Given the description of an element on the screen output the (x, y) to click on. 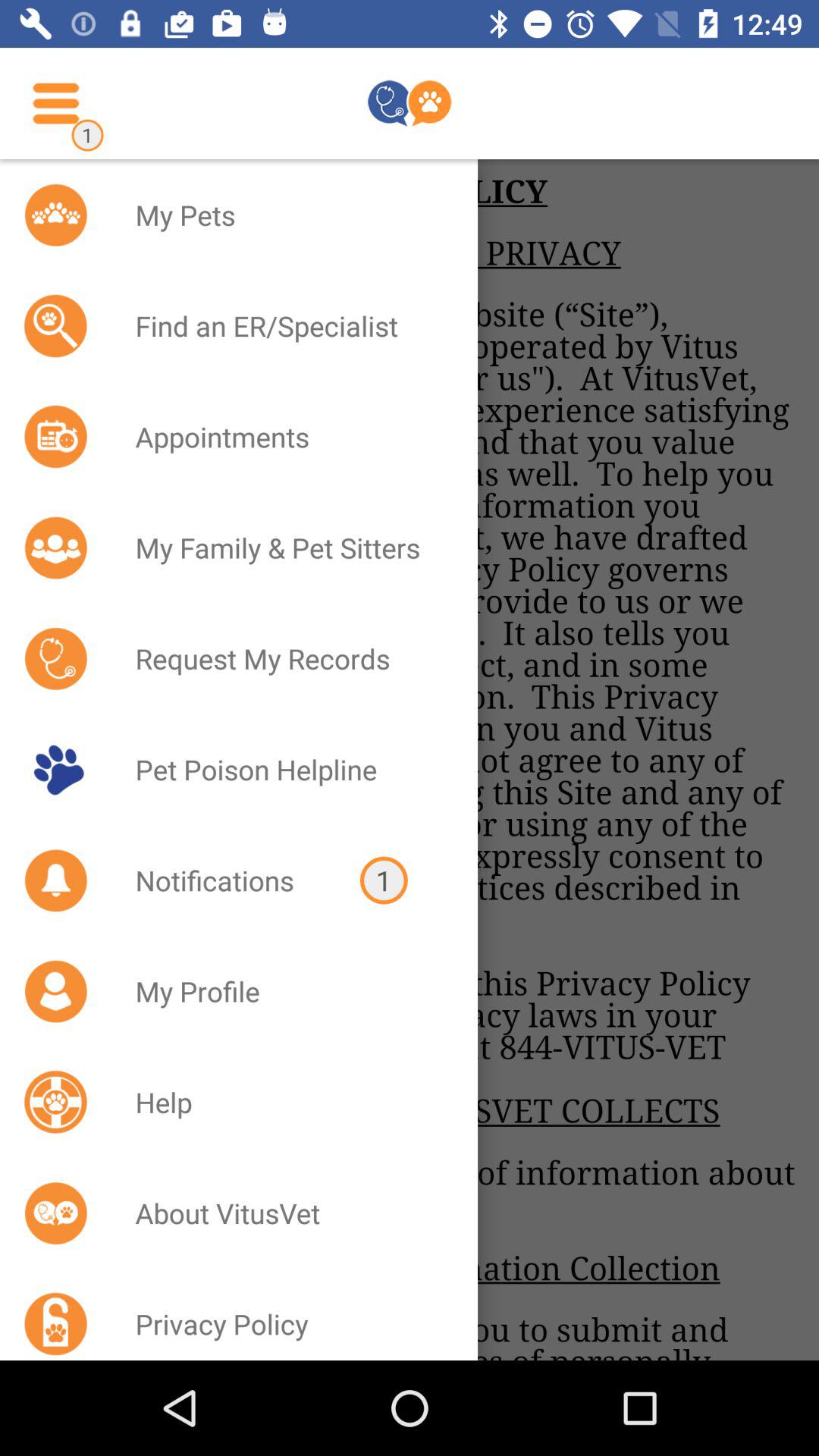
flip to notifications item (227, 880)
